Given the description of an element on the screen output the (x, y) to click on. 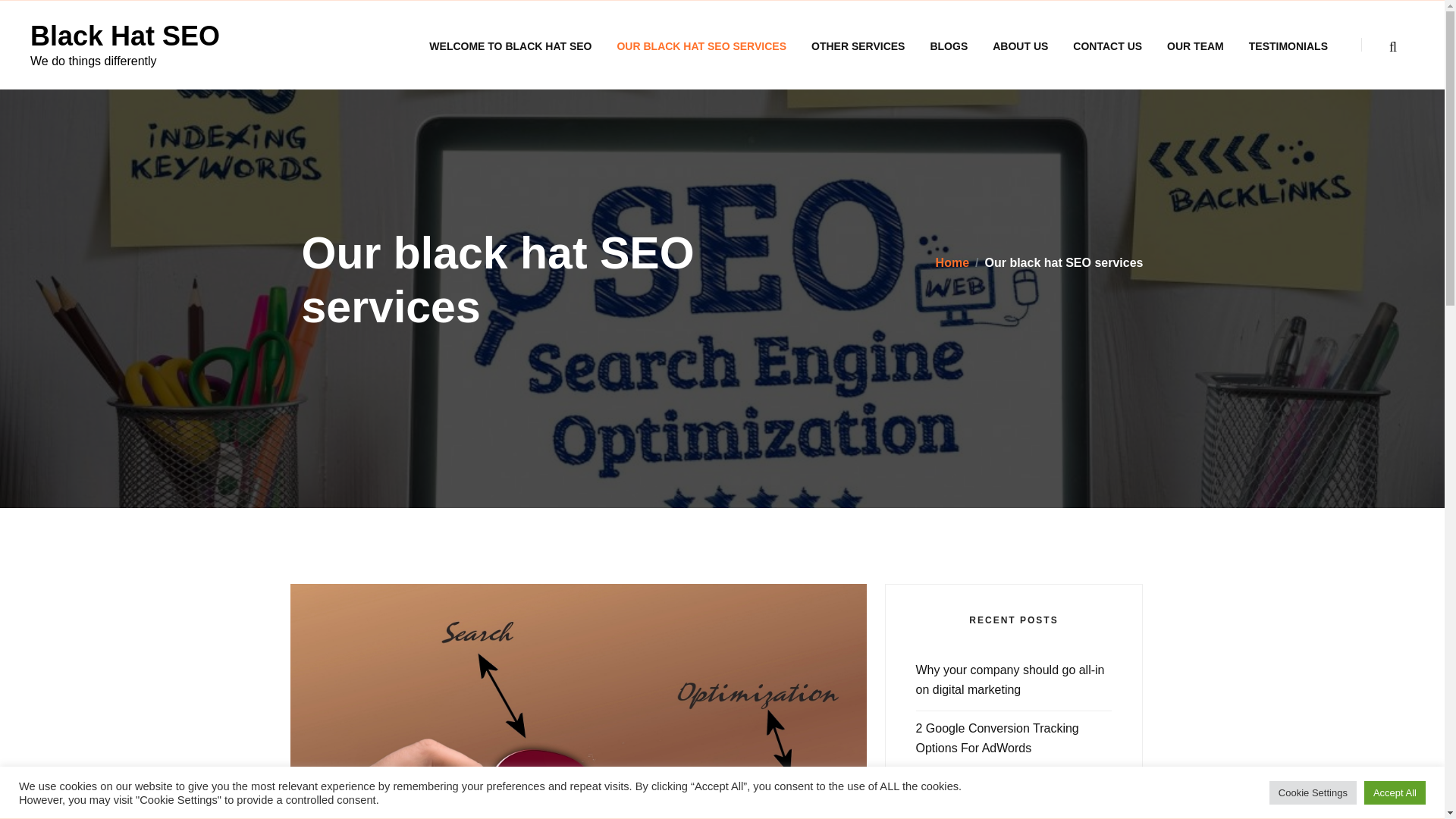
Home (952, 262)
TESTIMONIALS (1288, 46)
OTHER SERVICES (857, 46)
WELCOME TO BLACK HAT SEO (510, 46)
Why your company should go all-in on digital marketing (1010, 679)
Technology makes it easier than ever to start a business (1002, 797)
ABOUT US (1019, 46)
2 Google Conversion Tracking Options For AdWords (996, 737)
OUR BLACK HAT SEO SERVICES (700, 46)
Search (1085, 406)
CONTACT US (1107, 46)
Black Hat SEO (124, 35)
OUR TEAM (1195, 46)
BLOGS (948, 46)
